Given the description of an element on the screen output the (x, y) to click on. 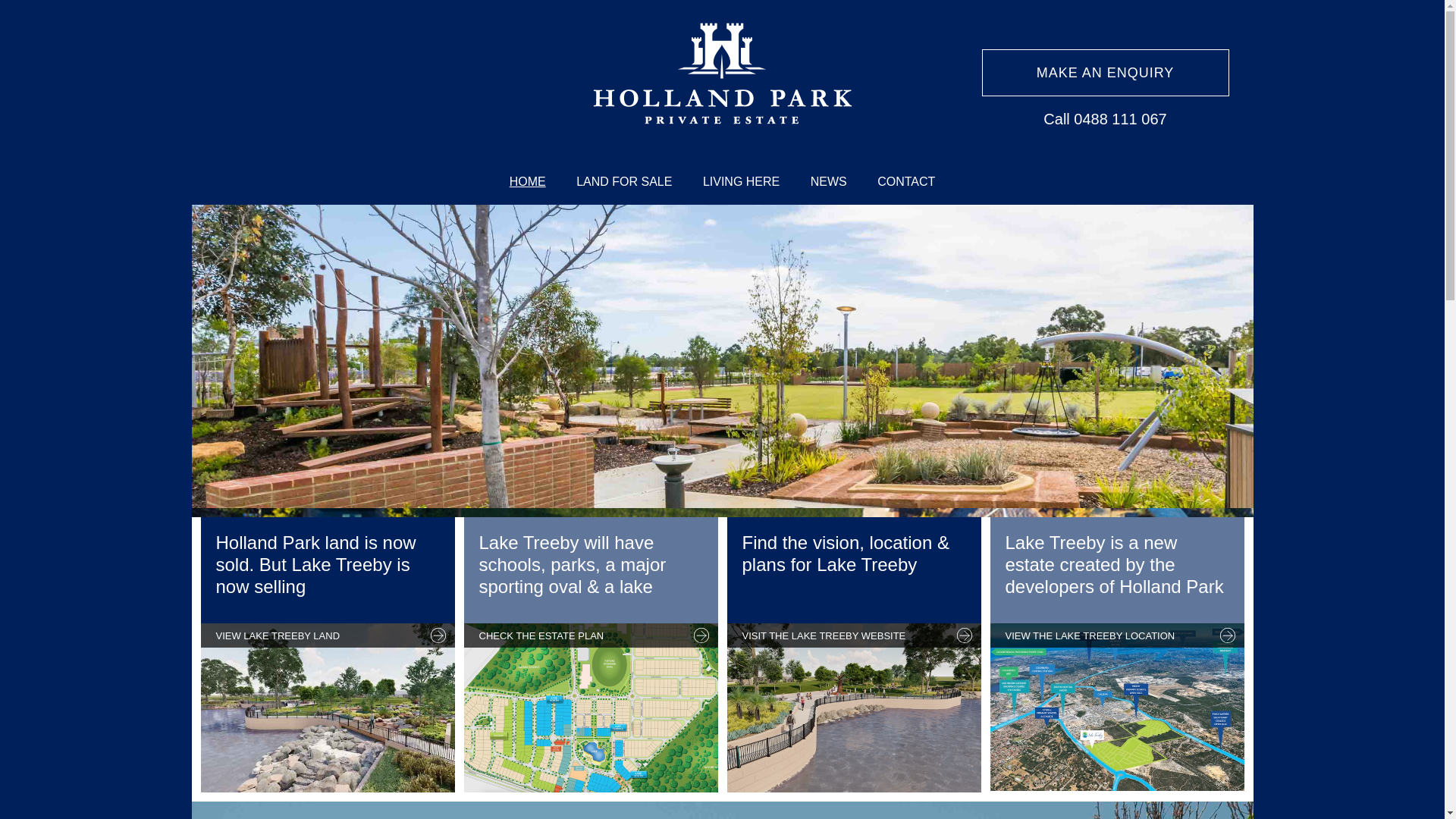
HOME Element type: text (527, 181)
LIVING HERE Element type: text (741, 181)
NEWS Element type: text (828, 181)
LAND FOR SALE Element type: text (623, 181)
Call 0488 111 067 Element type: text (1104, 118)
MAKE AN ENQUIRY Element type: text (1104, 72)
CONTACT Element type: text (905, 181)
